Given the description of an element on the screen output the (x, y) to click on. 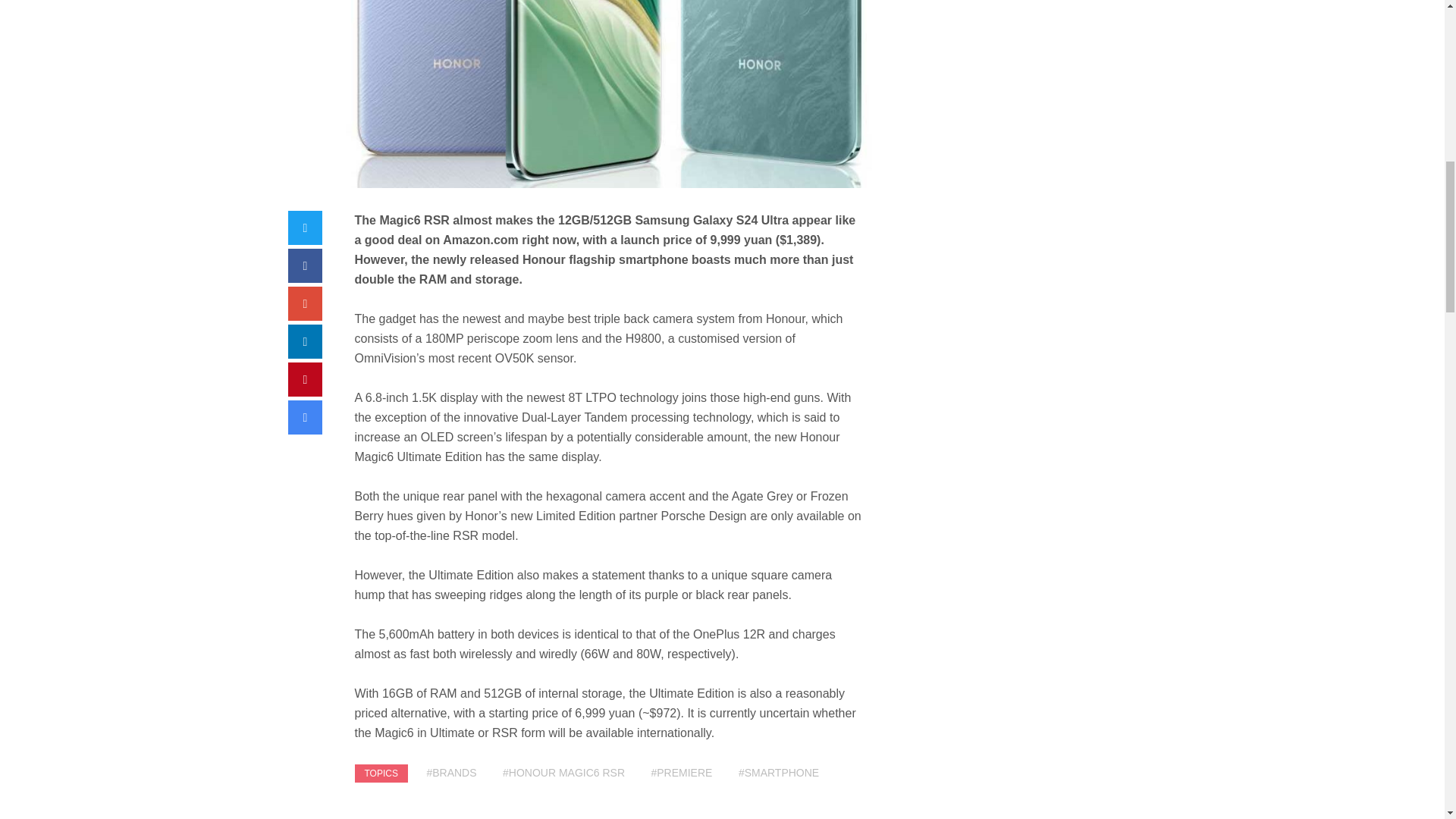
LinkedIn (304, 341)
Email (304, 417)
Pinterest (304, 379)
Twitter (304, 227)
Facebook (304, 265)
